Given the description of an element on the screen output the (x, y) to click on. 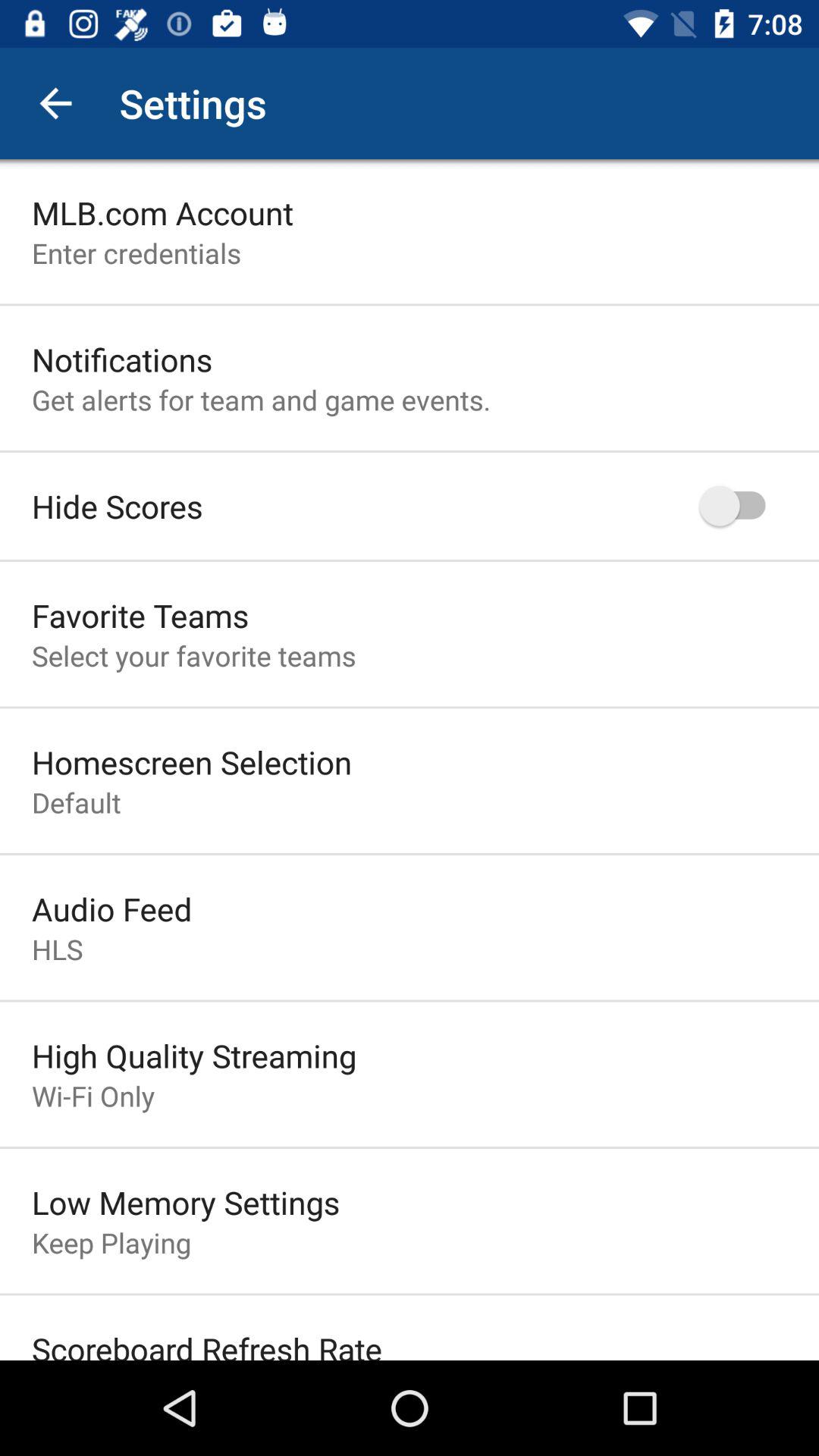
choose item below default icon (111, 908)
